Given the description of an element on the screen output the (x, y) to click on. 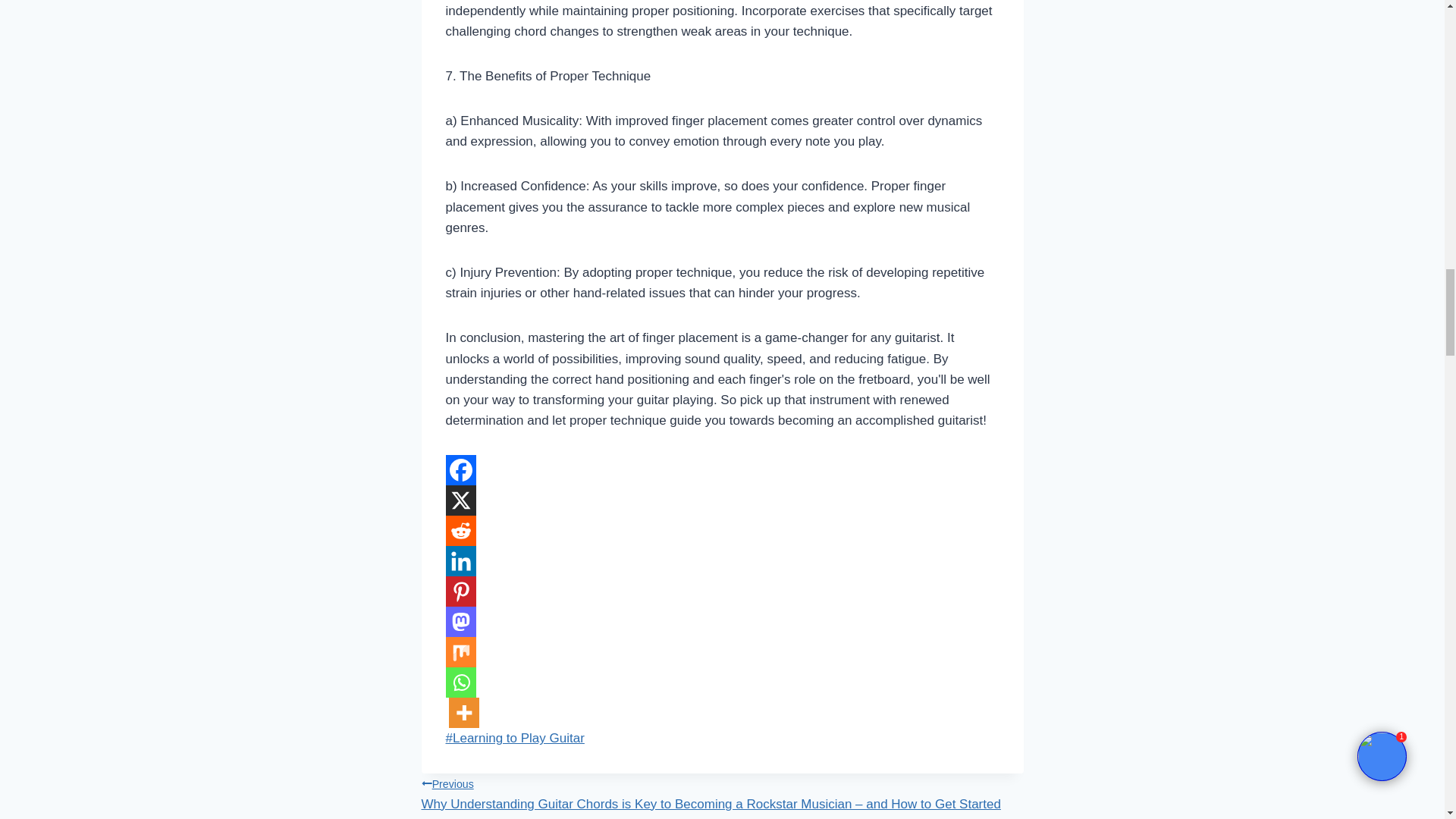
Facebook (460, 470)
Pinterest (460, 591)
Reddit (460, 530)
Linkedin (460, 561)
X (460, 500)
